Given the description of an element on the screen output the (x, y) to click on. 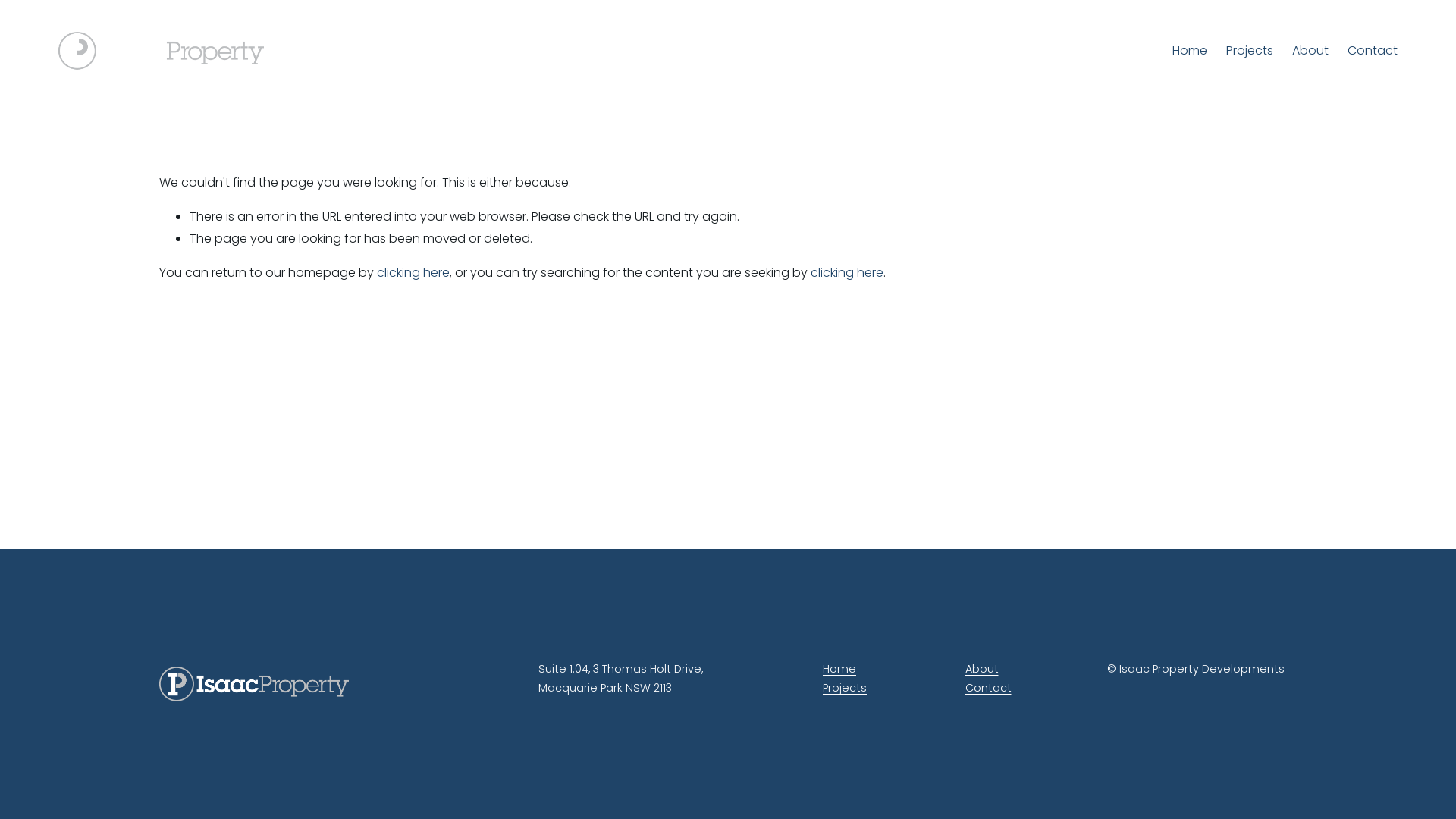
Contact Element type: text (987, 688)
Home Element type: text (1189, 50)
About Element type: text (1310, 50)
About Element type: text (980, 669)
Home Element type: text (839, 669)
clicking here Element type: text (846, 272)
clicking here Element type: text (412, 272)
Projects Element type: text (1249, 50)
Contact Element type: text (1372, 50)
Projects Element type: text (844, 688)
